Given the description of an element on the screen output the (x, y) to click on. 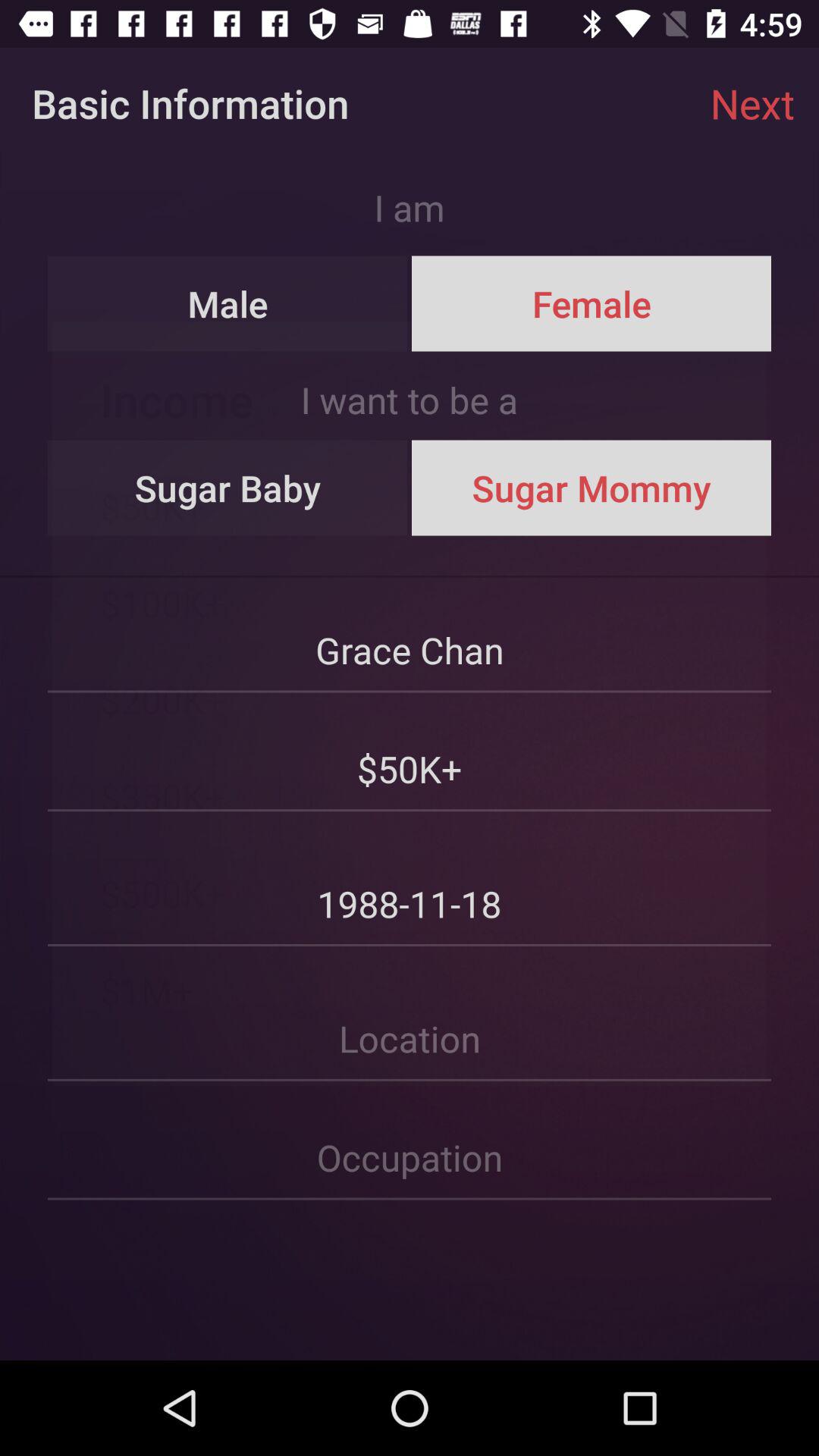
open item above female (752, 103)
